Given the description of an element on the screen output the (x, y) to click on. 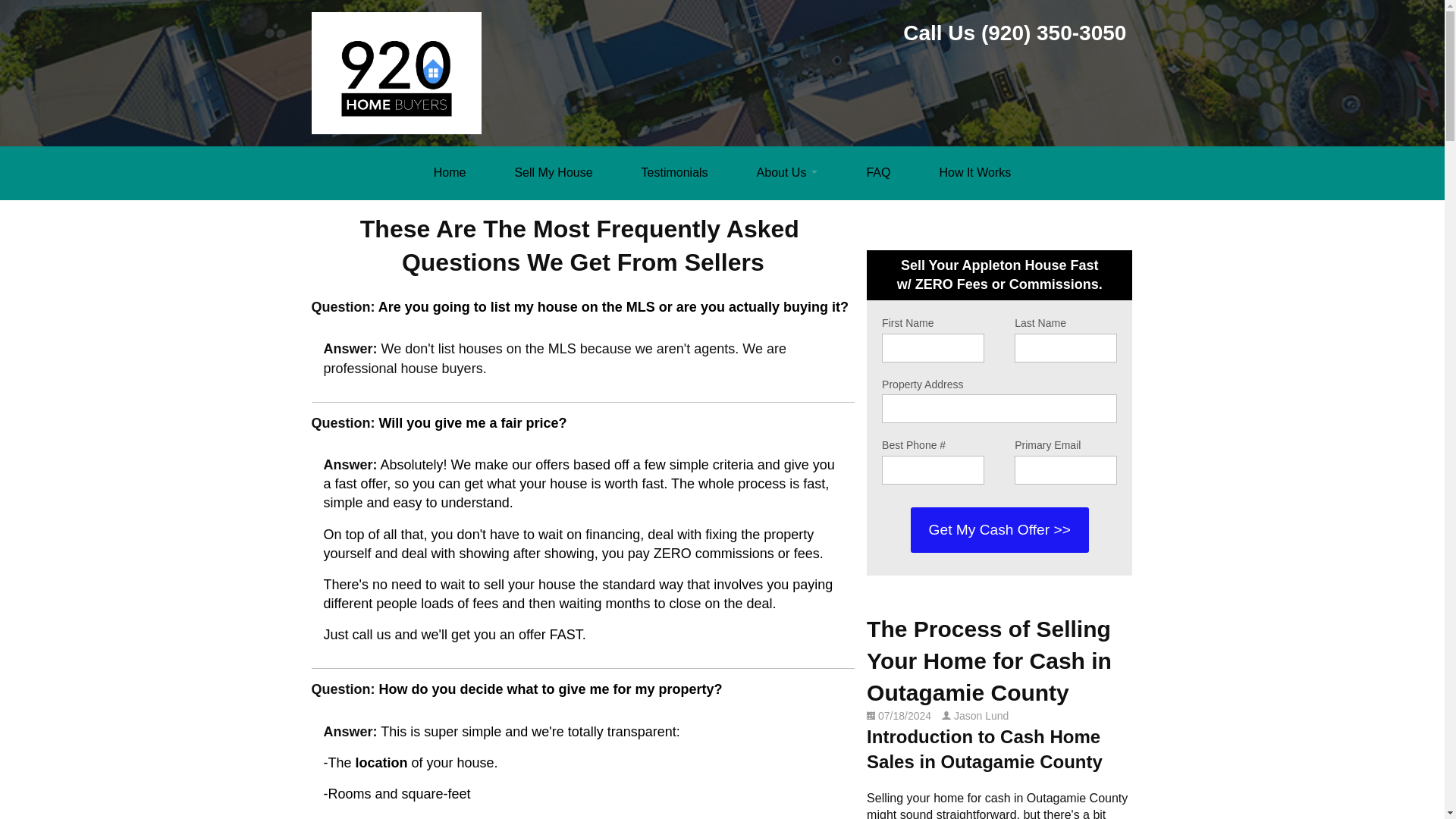
Faq (787, 172)
How It Works (974, 172)
Testimonials (674, 172)
Faq (877, 172)
How It Works (974, 172)
920 Home Buyers (449, 172)
About Us (787, 172)
Sell My House Step 1 (552, 172)
Home (449, 172)
Testimonials (674, 172)
FAQ (877, 172)
Sell My House (552, 172)
